Given the description of an element on the screen output the (x, y) to click on. 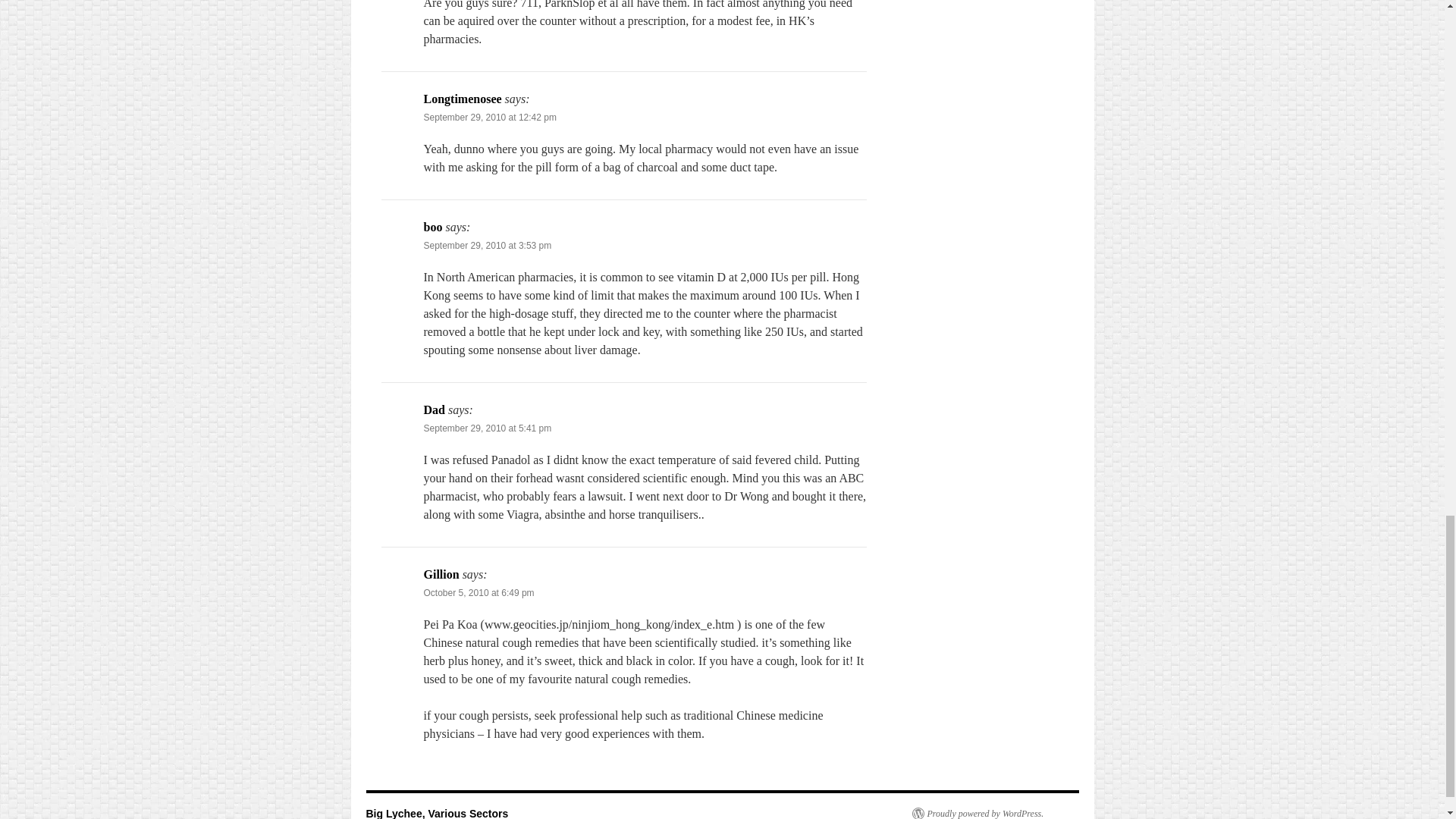
September 29, 2010 at 5:41 pm (487, 428)
September 29, 2010 at 12:42 pm (489, 117)
September 29, 2010 at 3:53 pm (487, 245)
October 5, 2010 at 6:49 pm (478, 593)
